Given the description of an element on the screen output the (x, y) to click on. 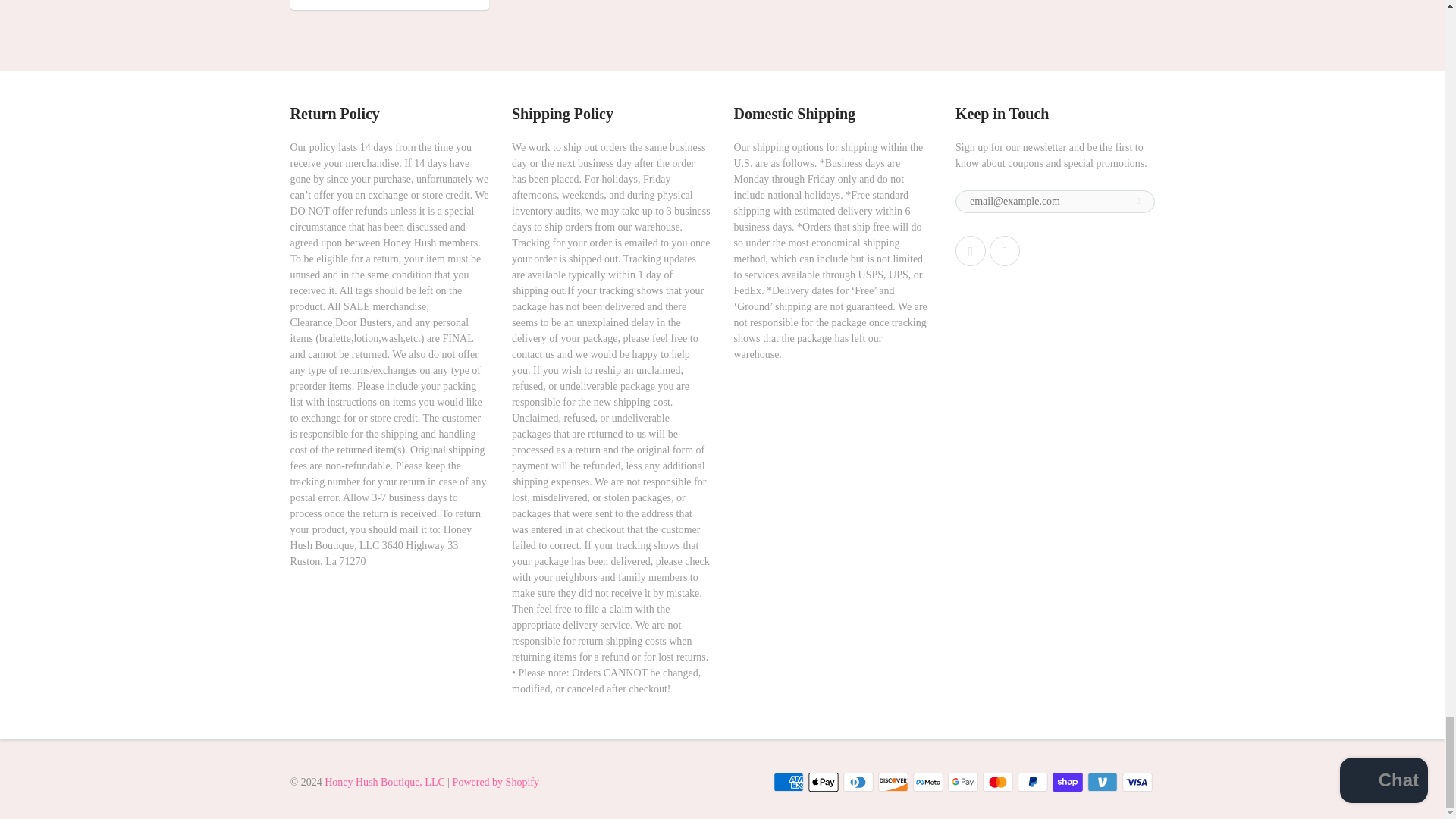
Mastercard (997, 782)
Discover (892, 782)
Meta Pay (927, 782)
Shop Pay (1067, 782)
Venmo (1102, 782)
Diners Club (858, 782)
Apple Pay (823, 782)
Visa (1137, 782)
Google Pay (962, 782)
American Express (788, 782)
